Given the description of an element on the screen output the (x, y) to click on. 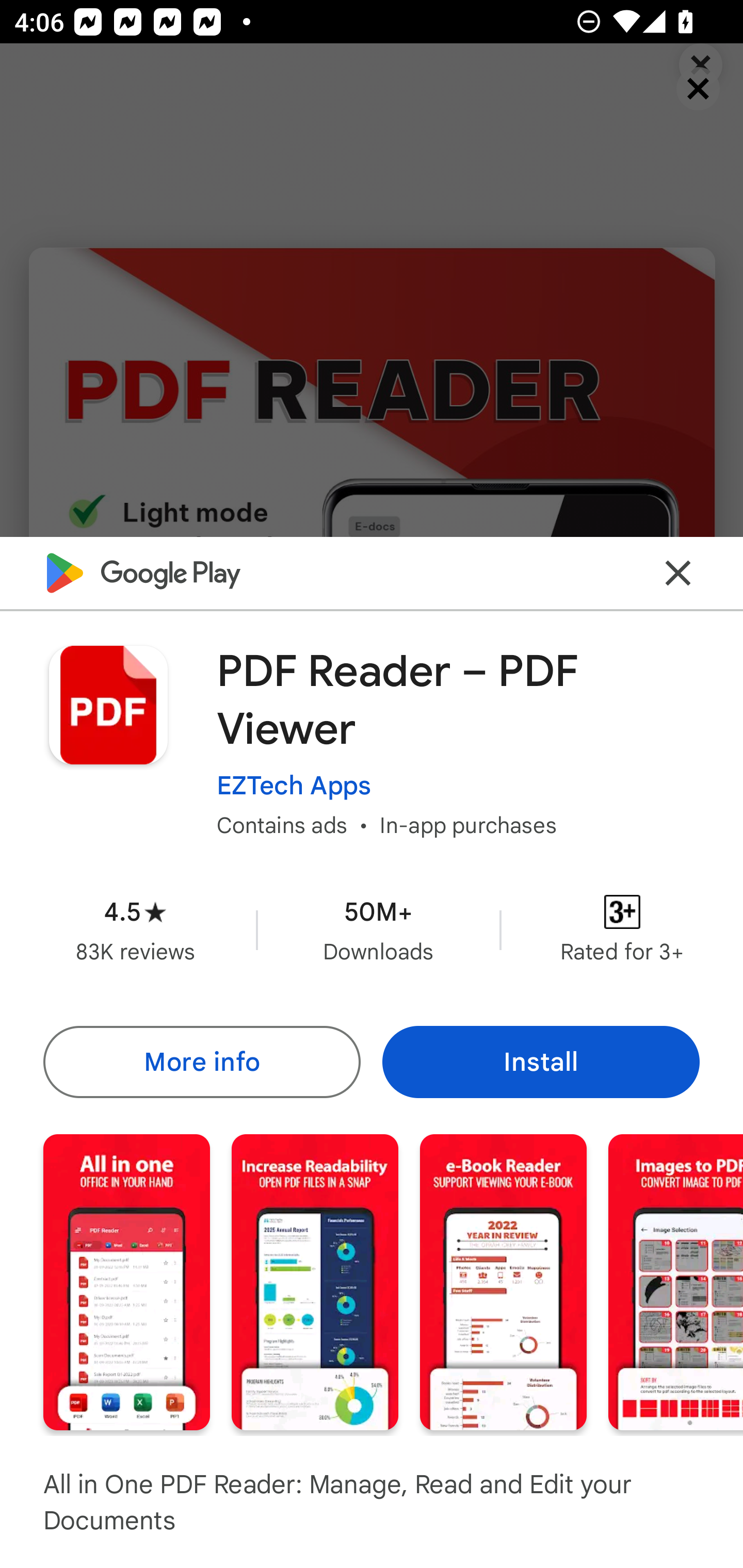
Close (677, 572)
EZTech Apps (293, 784)
More info (201, 1061)
Install (540, 1061)
Screenshot "1" of "7" (126, 1281)
Screenshot "2" of "7" (314, 1281)
Screenshot "3" of "7" (502, 1281)
Screenshot "4" of "7" (675, 1281)
